Given the description of an element on the screen output the (x, y) to click on. 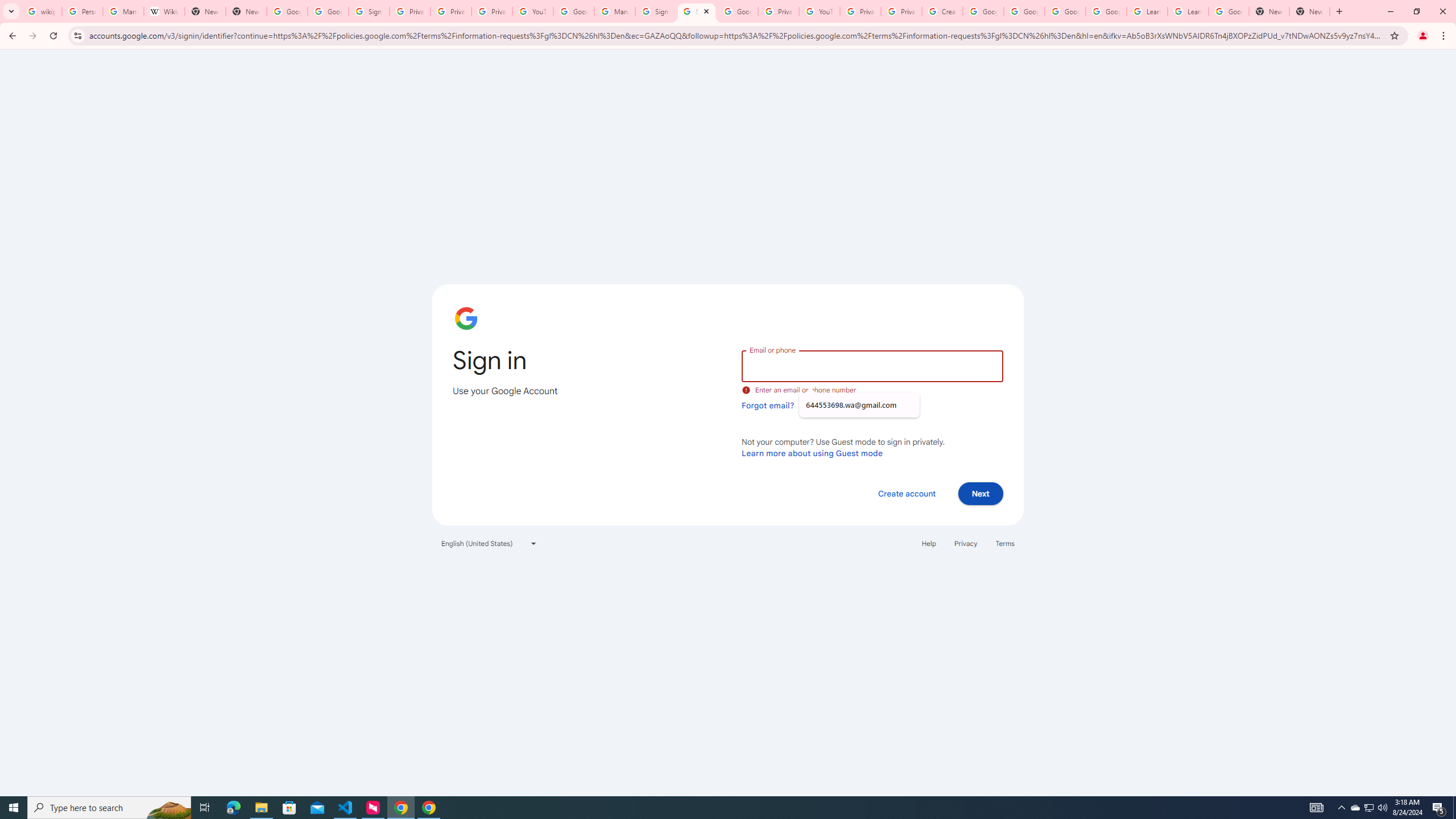
Create your Google Account (942, 11)
Next (980, 493)
Google Account Help (1105, 11)
New Tab (1268, 11)
Sign in - Google Accounts (655, 11)
Google Account Help (1064, 11)
New Tab (1309, 11)
Privacy (965, 542)
Google Account (1228, 11)
Wikipedia:Edit requests - Wikipedia (163, 11)
